Given the description of an element on the screen output the (x, y) to click on. 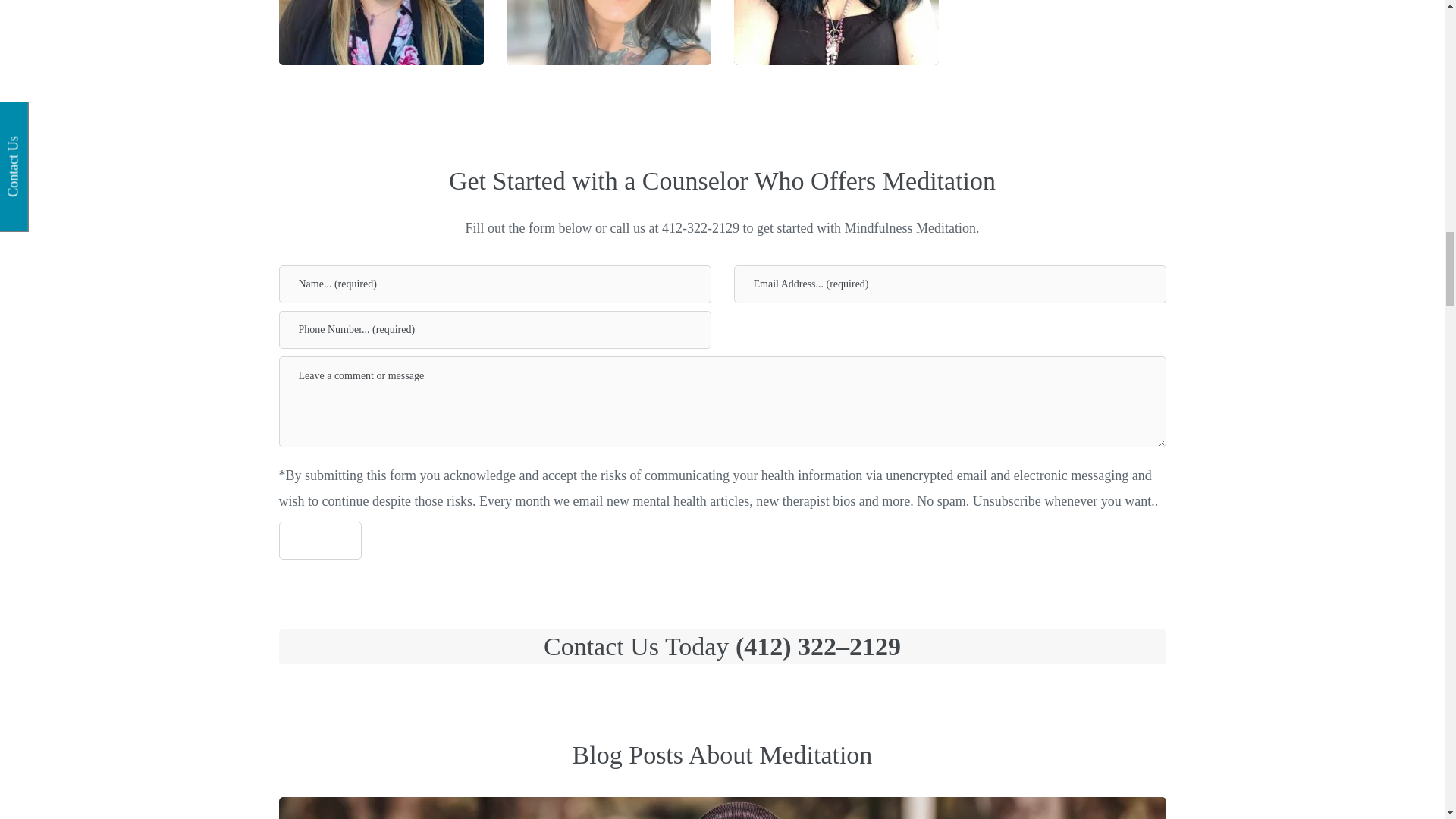
Submit (320, 540)
